Given the description of an element on the screen output the (x, y) to click on. 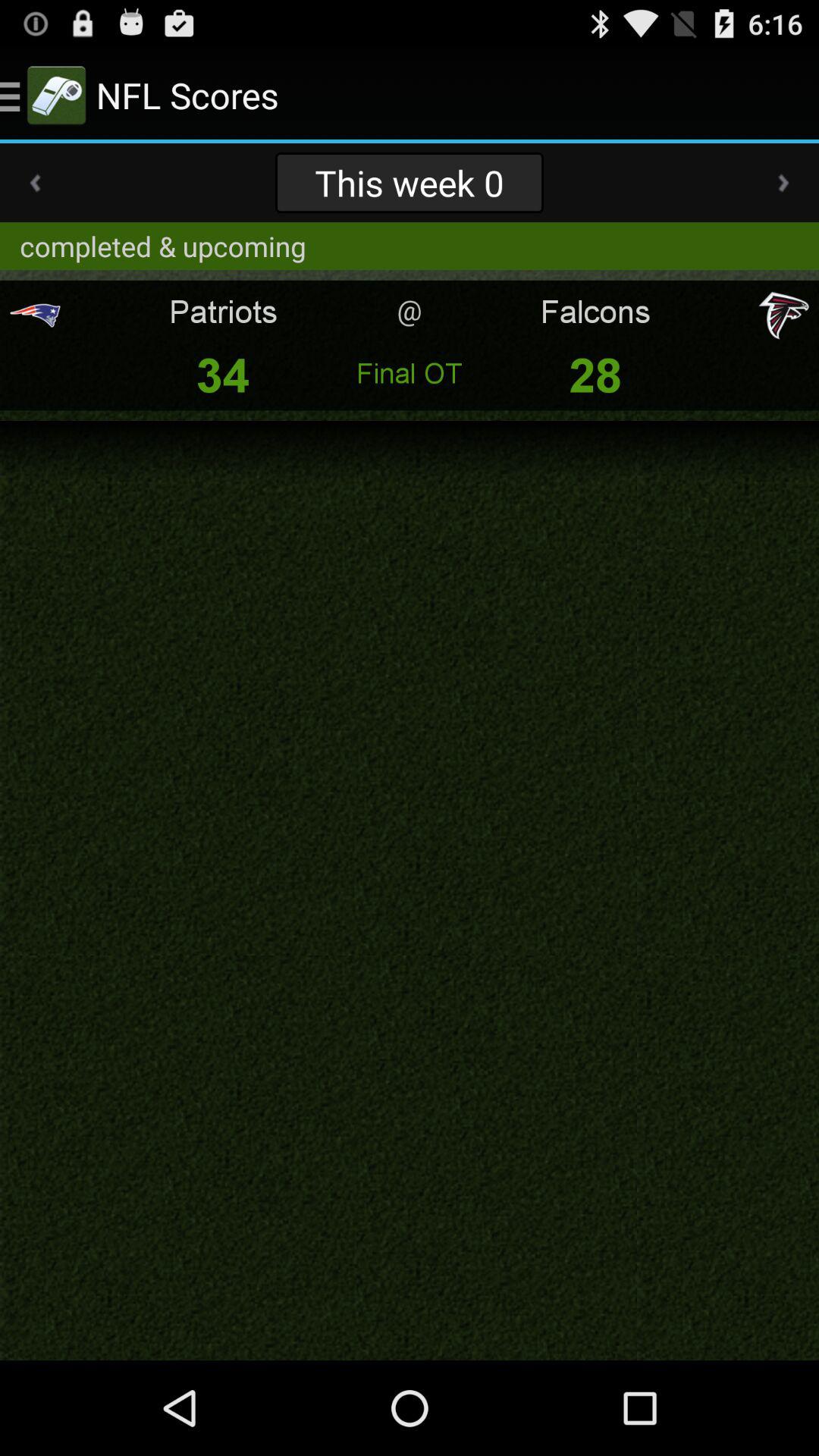
turn off item next to this week 0 item (35, 182)
